Given the description of an element on the screen output the (x, y) to click on. 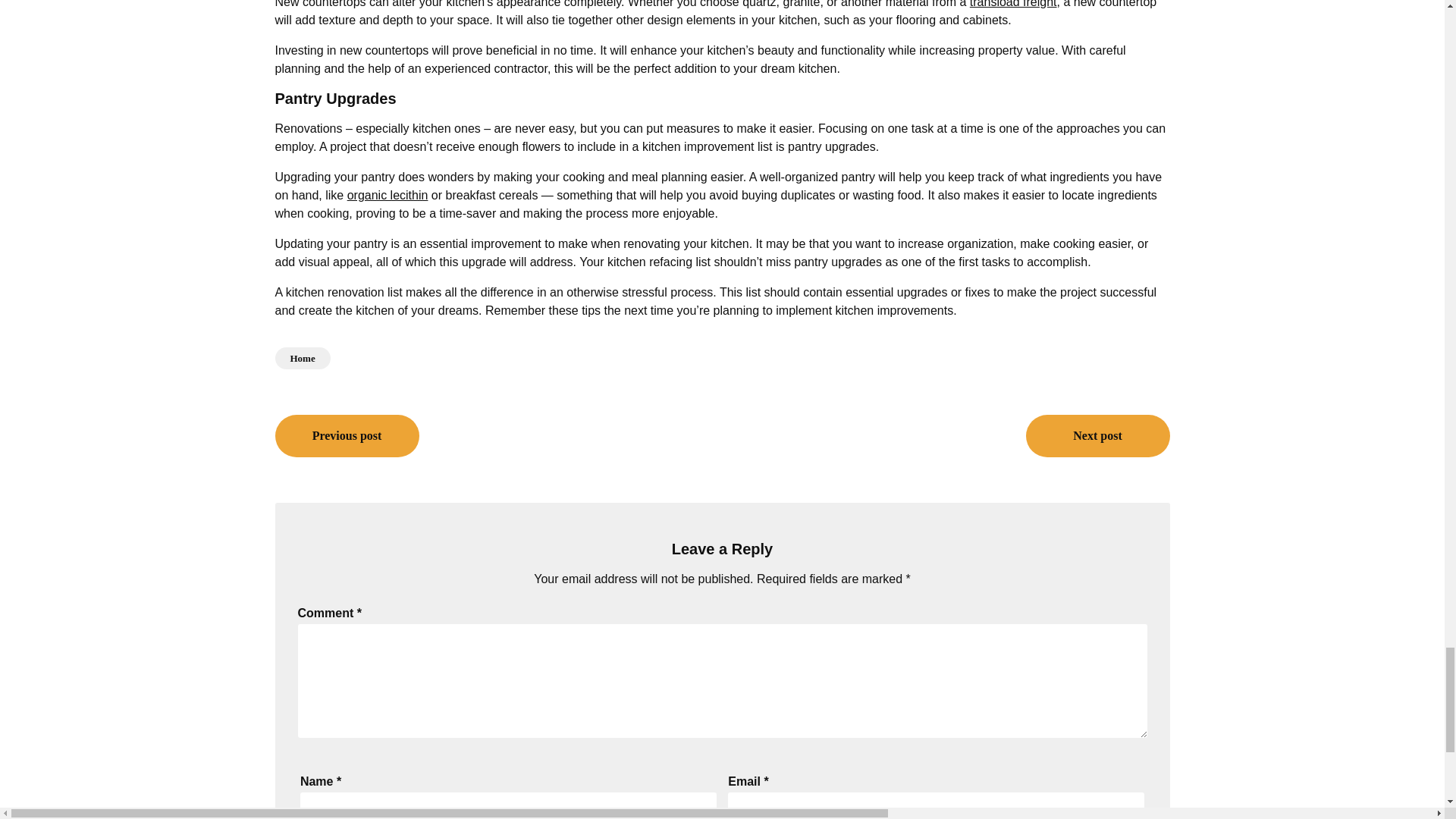
Previous post (347, 435)
organic lecithin (387, 195)
Home (302, 358)
Next post (1097, 435)
transload freight (1013, 4)
